Given the description of an element on the screen output the (x, y) to click on. 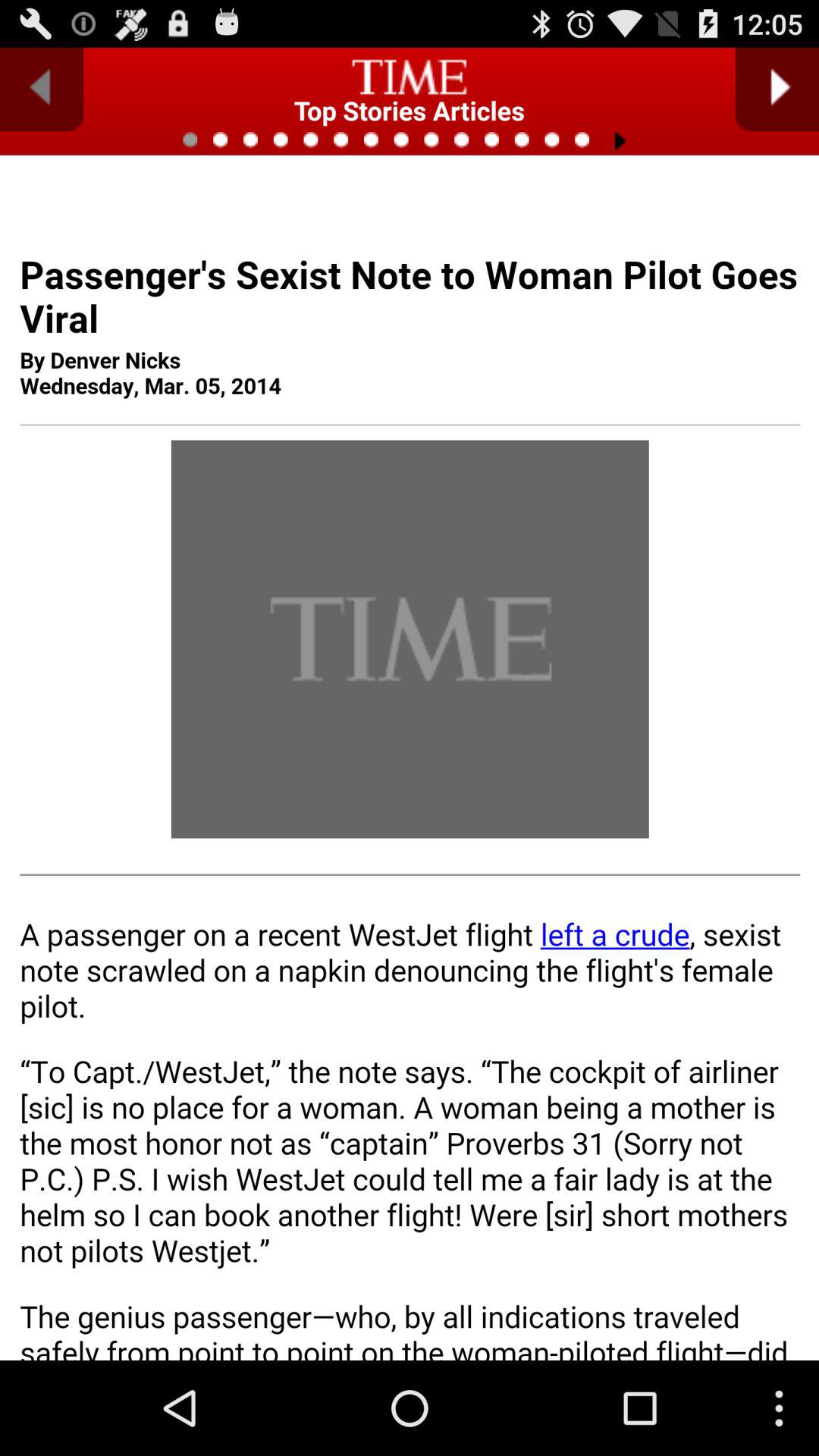
click on the it (409, 807)
